Given the description of an element on the screen output the (x, y) to click on. 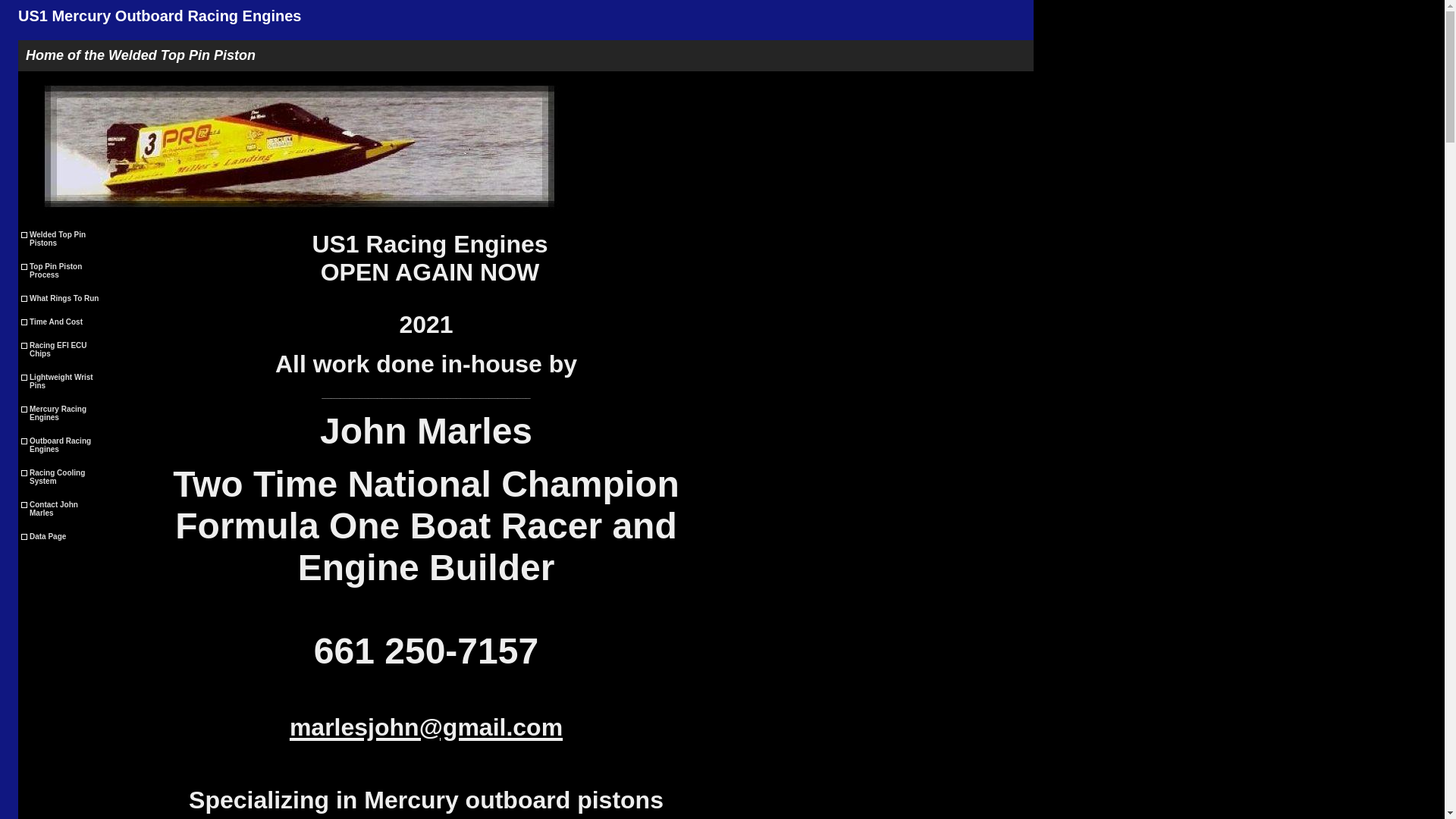
Time And Cost Element type: text (63, 321)
Welded Top Pin Pistons Element type: text (63, 238)
marlesjohn@gmail.com Element type: text (425, 722)
Contact John Marles Element type: text (63, 508)
Lightweight Wrist Pins Element type: text (63, 381)
Racing EFI ECU Chips Element type: text (63, 349)
Outboard Racing Engines Element type: text (63, 445)
What Rings To Run Element type: text (63, 298)
Top Pin Piston Process Element type: text (63, 270)
Mercury Racing Engines Element type: text (63, 413)
Racing Cooling System Element type: text (63, 476)
Data Page Element type: text (63, 536)
